Given the description of an element on the screen output the (x, y) to click on. 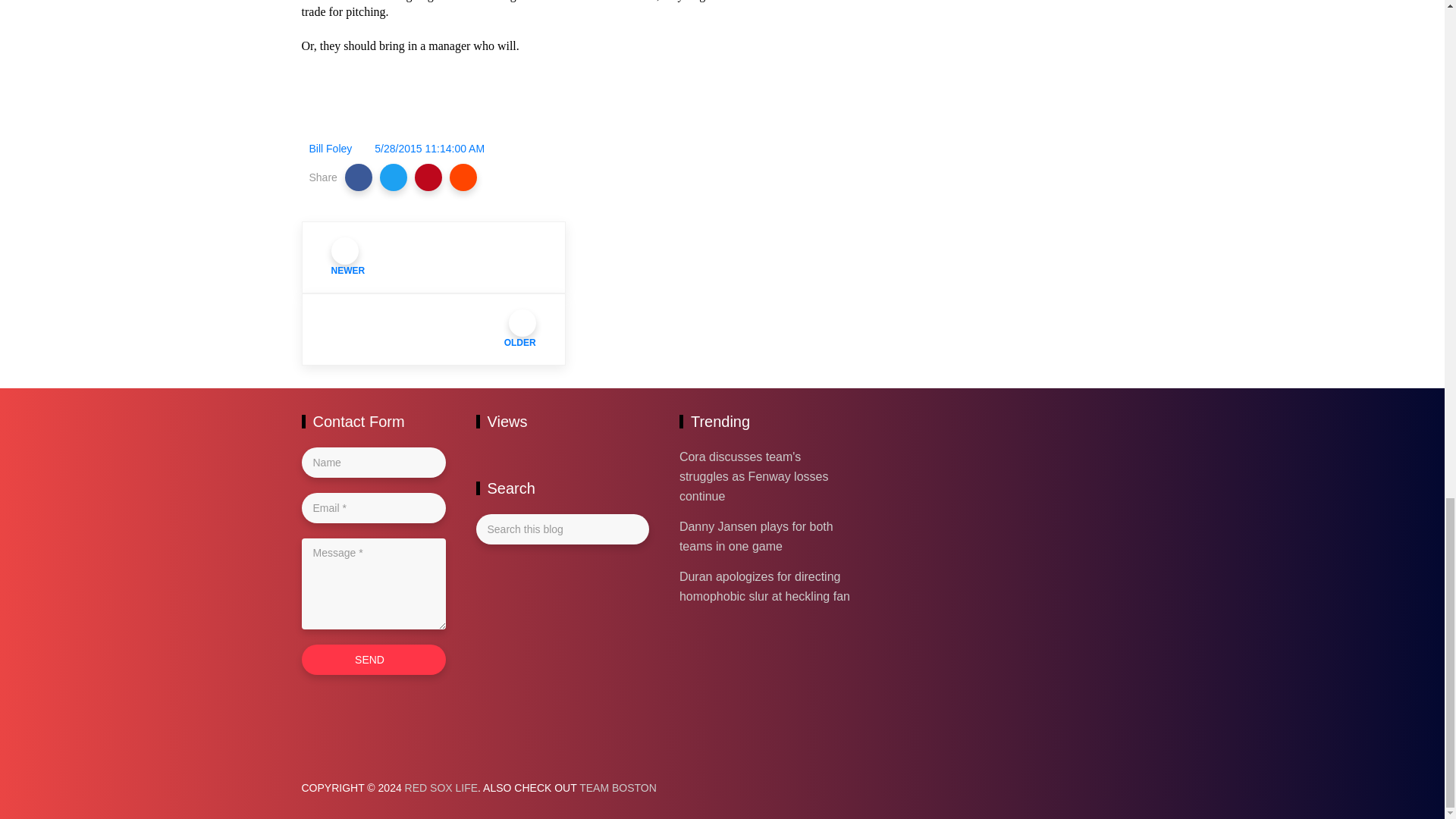
Share to Reddit (463, 176)
author profile (330, 148)
Cora discusses team's struggles as Fenway losses continue (753, 476)
Danny Jansen plays for both teams in one game (755, 536)
OLDER (433, 329)
Share to Pinterest (428, 176)
Share to Twitter (393, 176)
Share to Facebook (358, 176)
permanent link (429, 148)
